Given the description of an element on the screen output the (x, y) to click on. 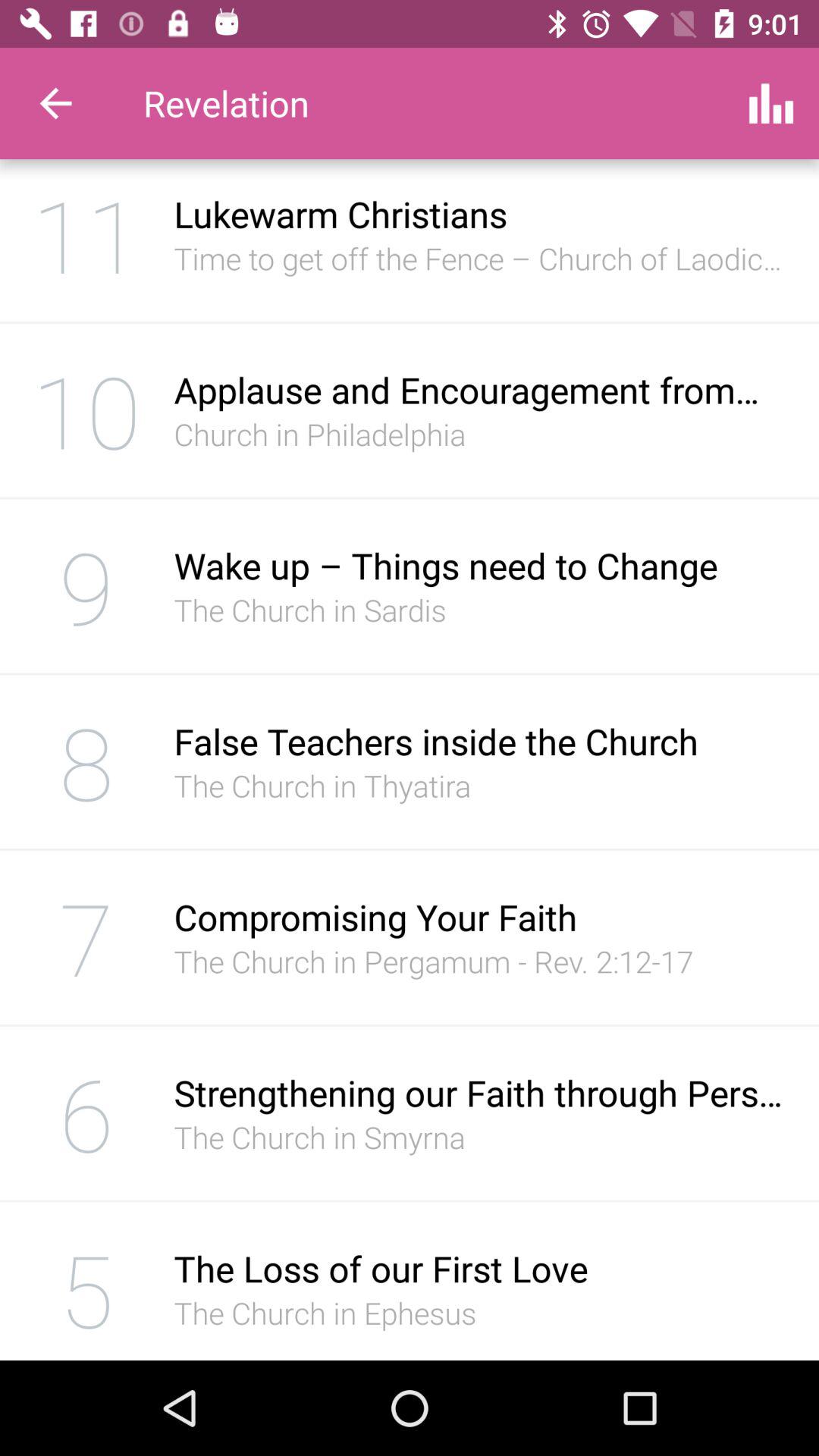
turn on the item below the church in icon (480, 916)
